Given the description of an element on the screen output the (x, y) to click on. 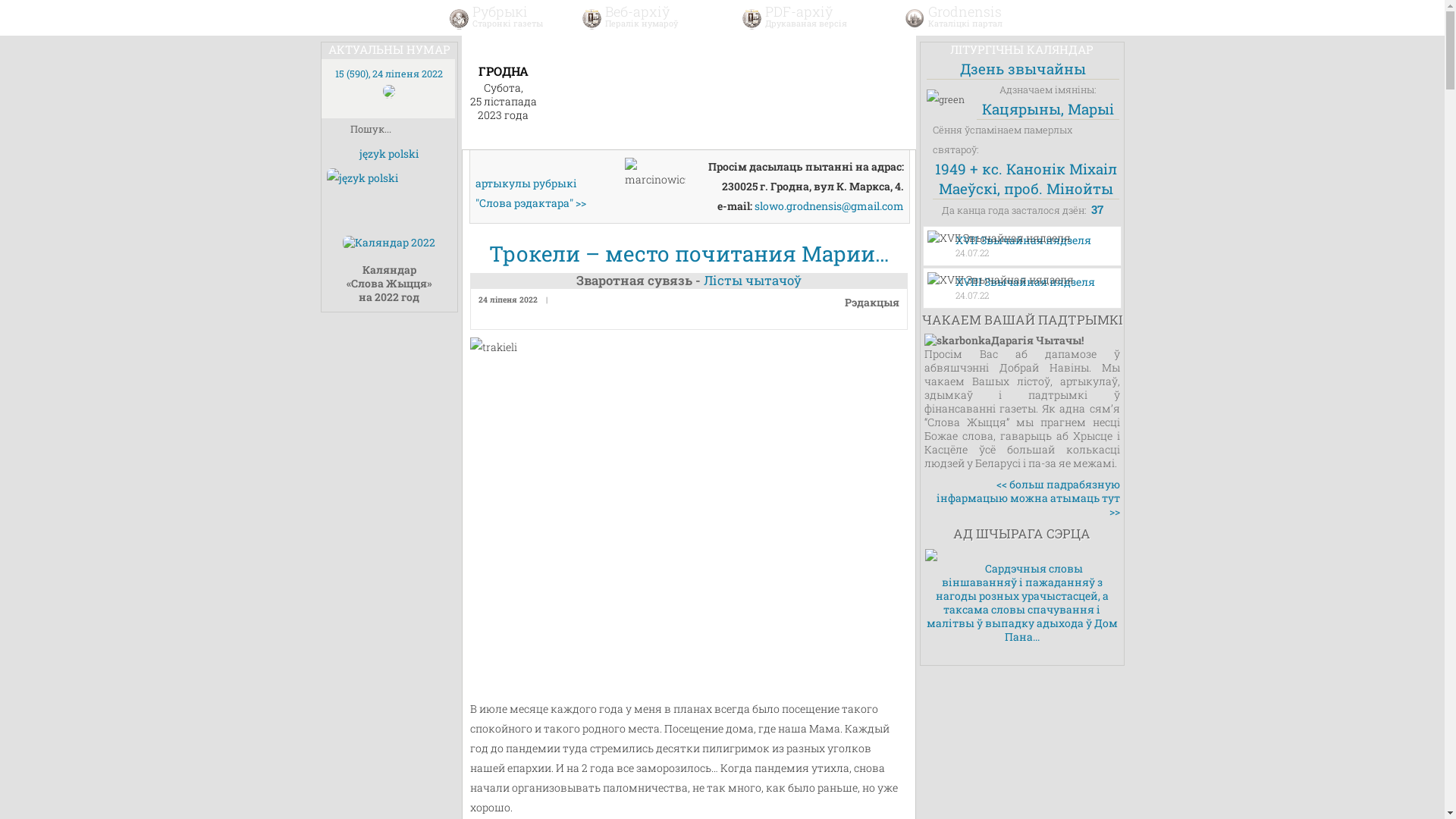
         Element type: text (1049, 17)
slowo.grodnensis@gmail.com Element type: text (827, 205)
